Given the description of an element on the screen output the (x, y) to click on. 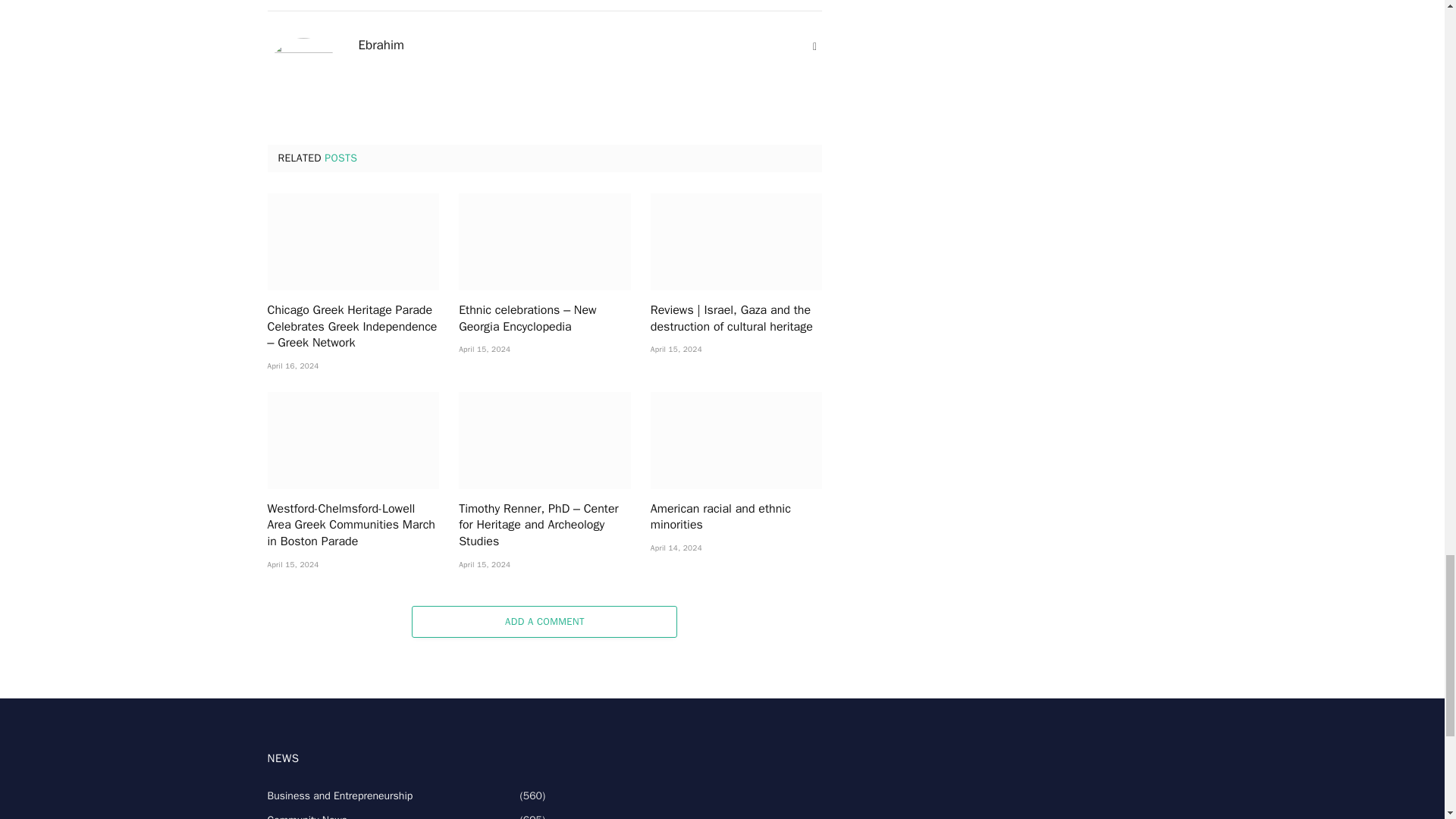
Posts by Ebrahim (380, 45)
Website (814, 46)
Ebrahim (380, 45)
Website (814, 46)
